Given the description of an element on the screen output the (x, y) to click on. 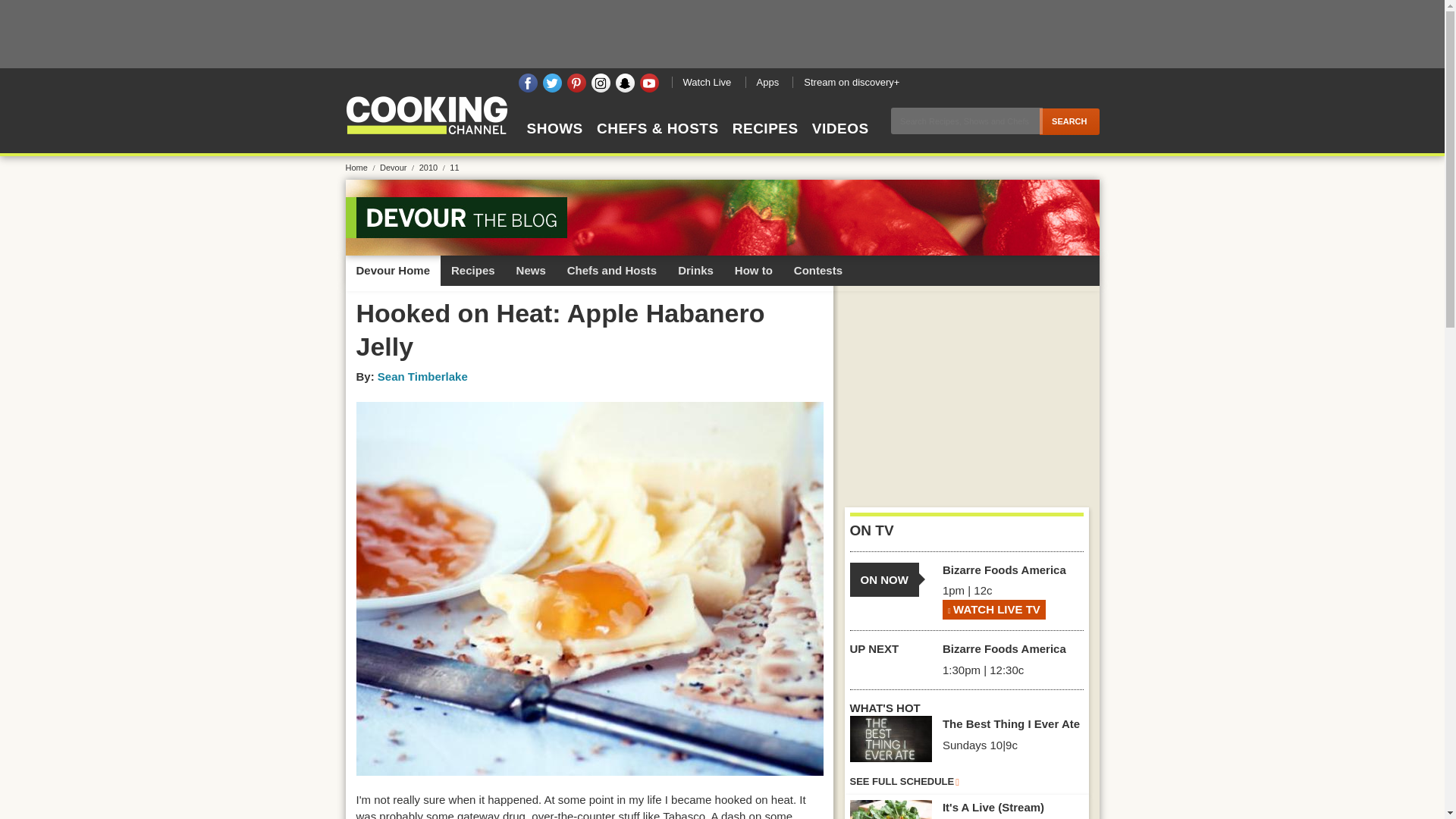
RECIPES (764, 141)
Home (361, 166)
News (530, 269)
Follow us on Instagram (600, 82)
Follow us on Snapchat (624, 82)
Chefs and Hosts (611, 269)
Follow us on Facebook (527, 82)
Watch Live (706, 81)
Contests (818, 269)
Devour (398, 166)
